Given the description of an element on the screen output the (x, y) to click on. 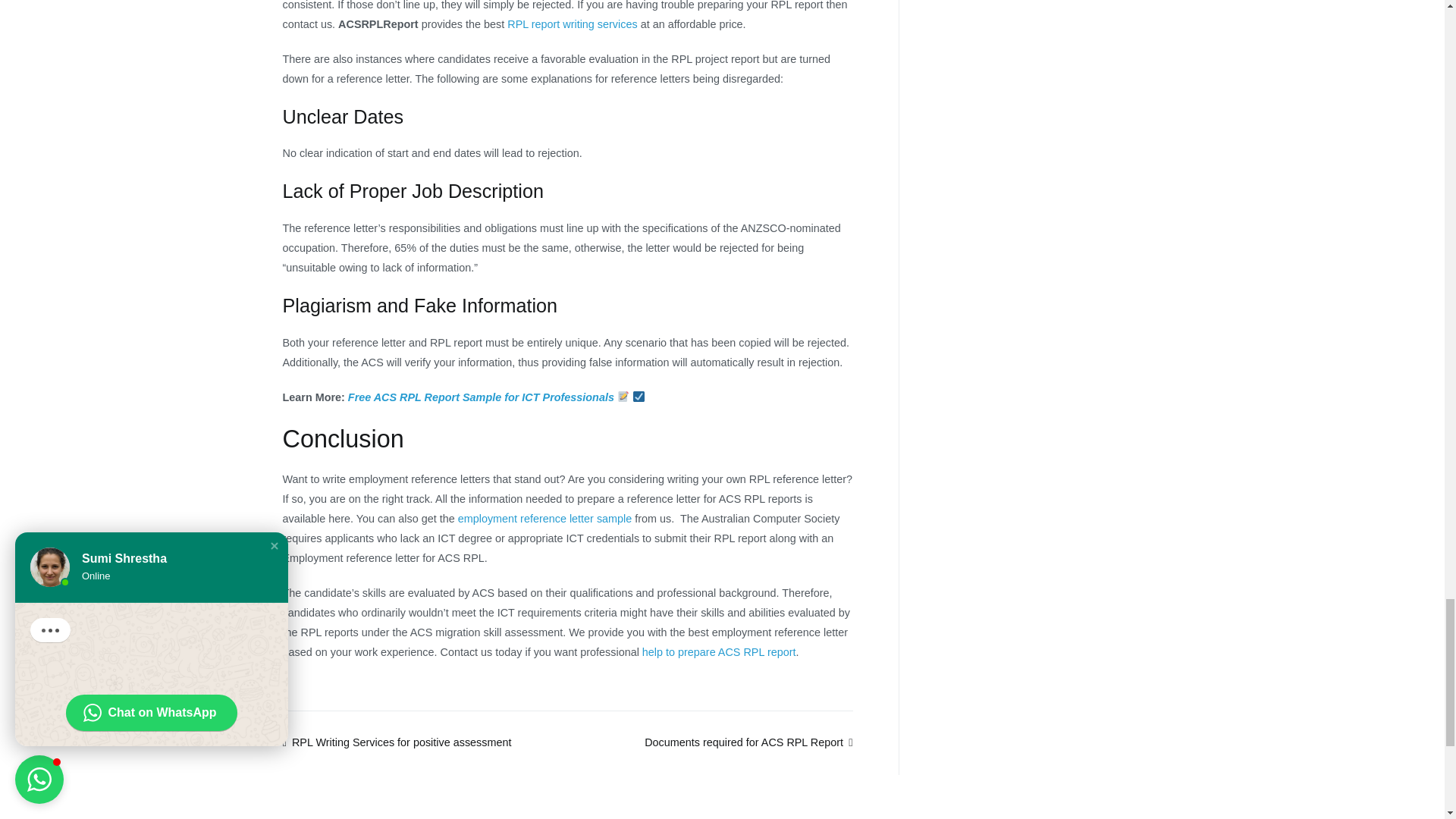
RPL Writing Services for positive assessment (396, 742)
Documents required for ACS RPL Report (748, 742)
Free ACS RPL Report Sample for ICT Professionals (480, 397)
RPL report writing services (571, 24)
employment reference letter sample (544, 518)
help to prepare ACS RPL report (719, 652)
